Given the description of an element on the screen output the (x, y) to click on. 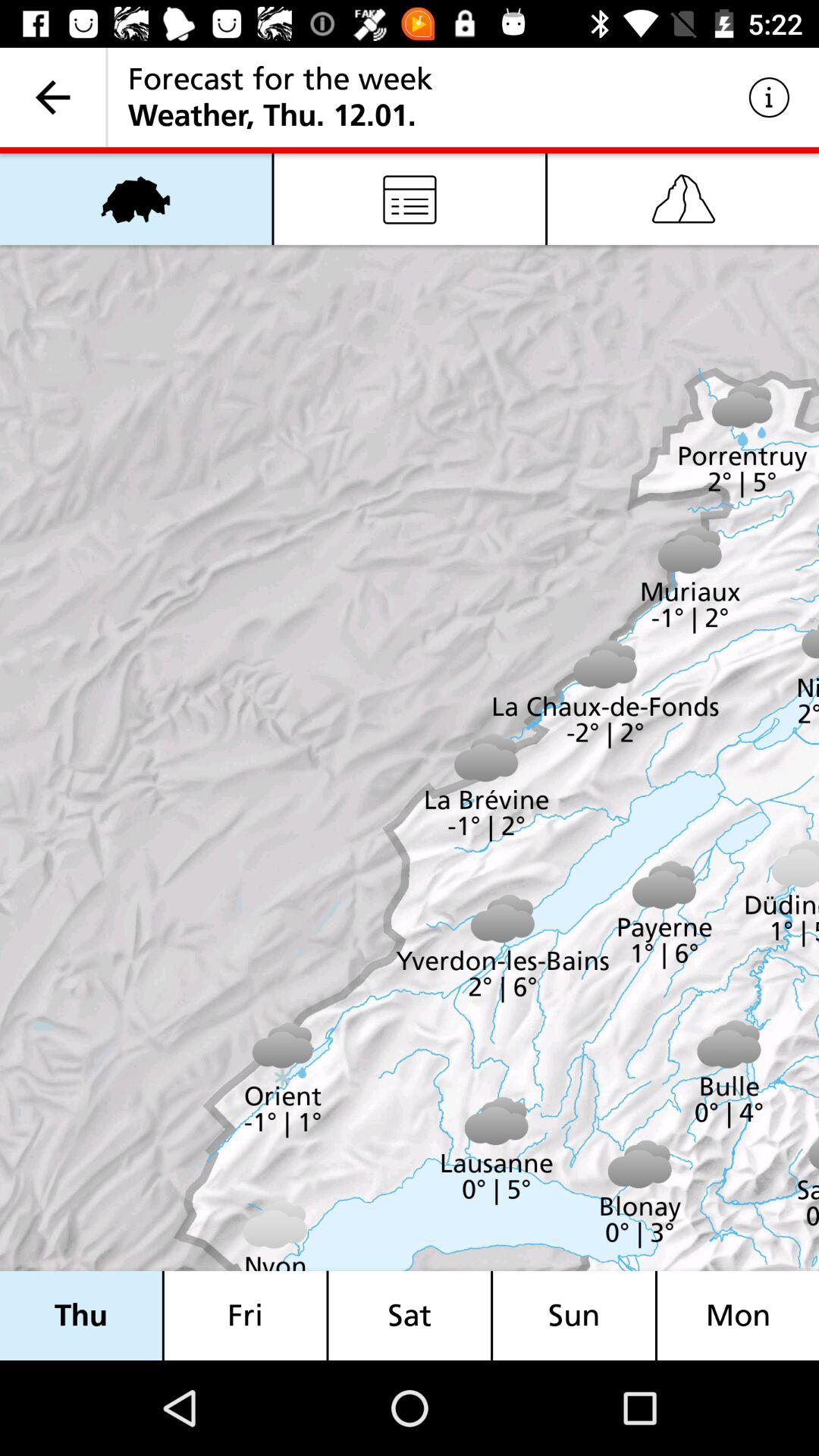
open mon icon (738, 1315)
